Given the description of an element on the screen output the (x, y) to click on. 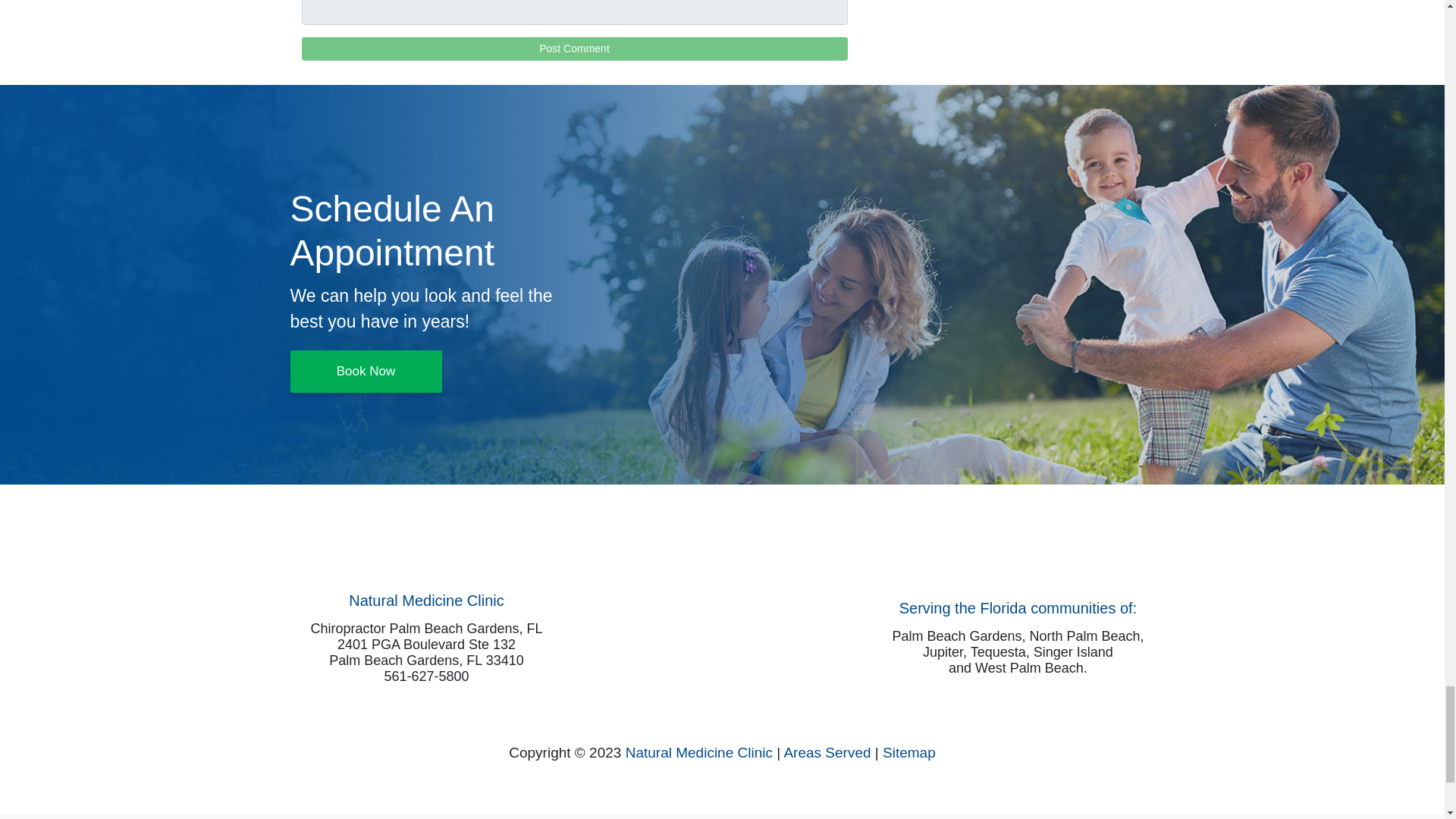
Post Comment (574, 48)
